Given the description of an element on the screen output the (x, y) to click on. 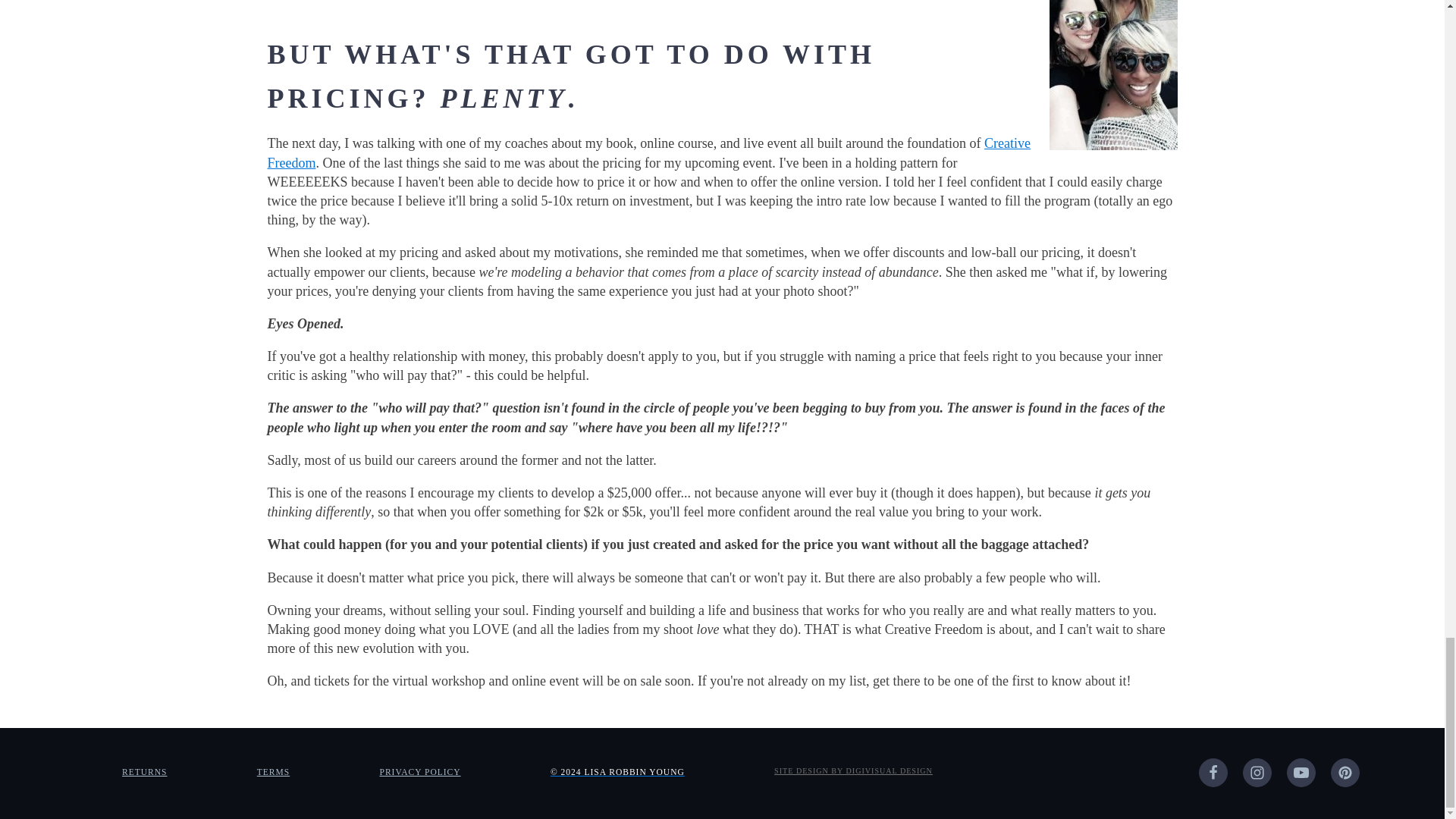
RETURNS (144, 771)
PRIVACY POLICY (419, 771)
Creative Freedom (648, 152)
SITE DESIGN BY DIGIVISUAL DESIGN (853, 770)
TERMS (273, 771)
